Given the description of an element on the screen output the (x, y) to click on. 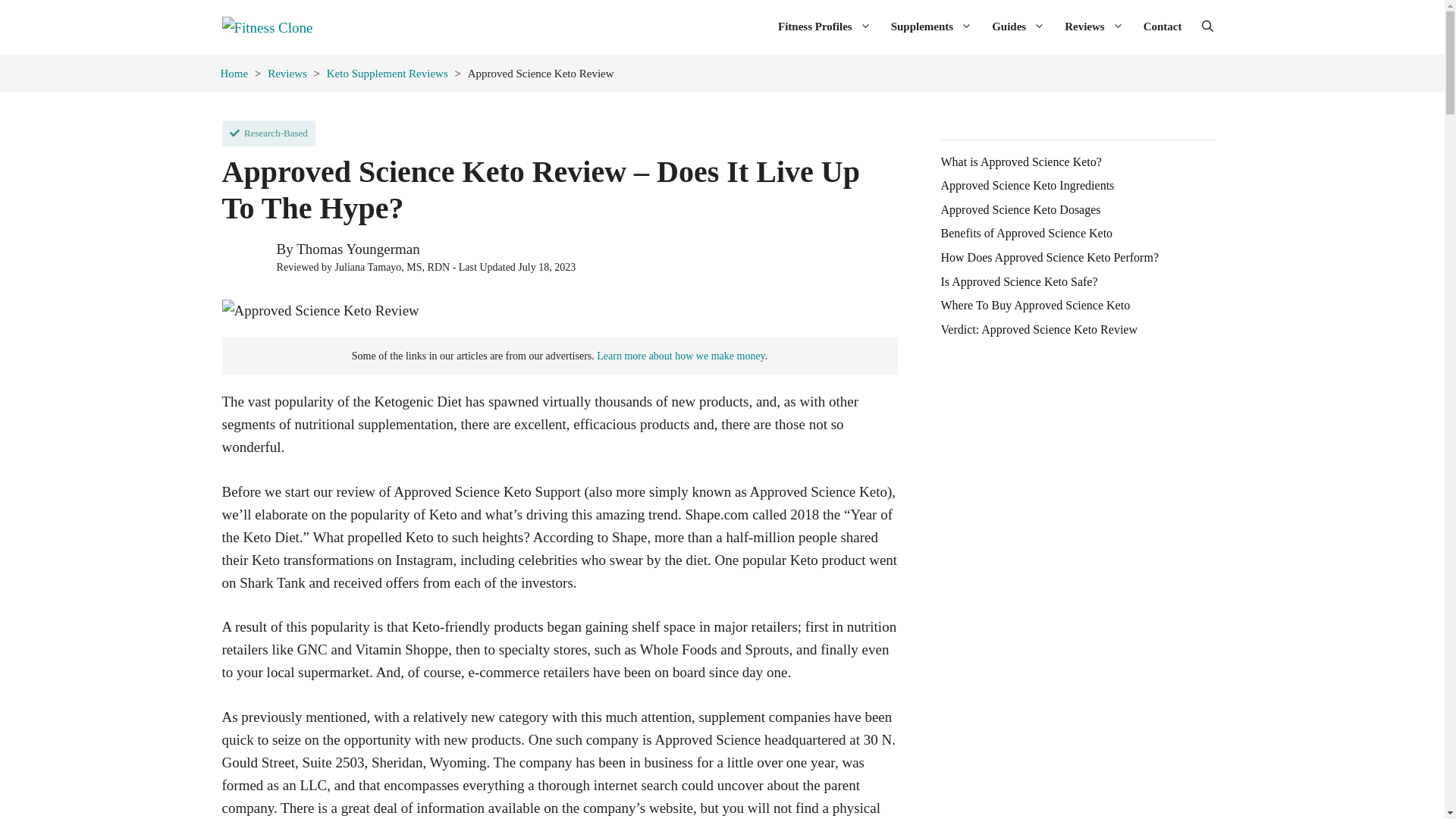
Supplements (931, 26)
Fitness Profiles (824, 26)
Verdict: Approved Science Keto Review (1038, 329)
Reviews (1094, 26)
Approved Science Keto Dosages (1020, 209)
Is Approved Science Keto Safe? (1018, 282)
Benefits of Approved Science Keto (1026, 233)
Guides (1017, 26)
Where To Buy Approved Science Keto (1034, 305)
What is Approved Science Keto? (1020, 162)
How Does Approved Science Keto Perform? (1048, 257)
Approved Science Keto Ingredients (1026, 185)
